Given the description of an element on the screen output the (x, y) to click on. 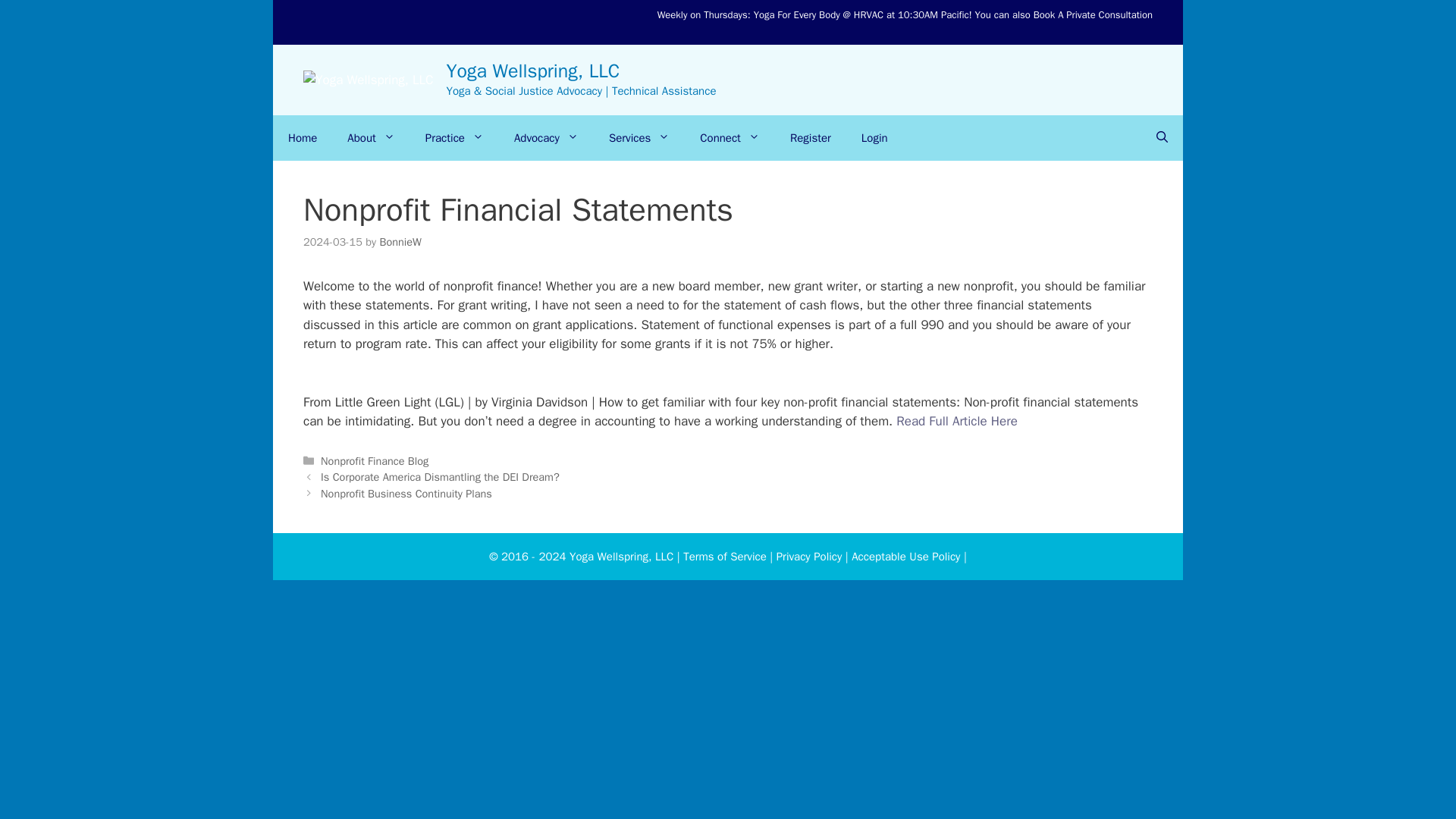
Website Terms of Service (724, 556)
Home (302, 137)
Yoga Wellspring, LLC (533, 70)
Website Privacy Policy (809, 556)
Website Acceptable Use Policy (905, 556)
Book A Private Consultation (1093, 14)
View all posts by BonnieW (399, 241)
About (370, 137)
Advocacy (546, 137)
Practice (454, 137)
